Given the description of an element on the screen output the (x, y) to click on. 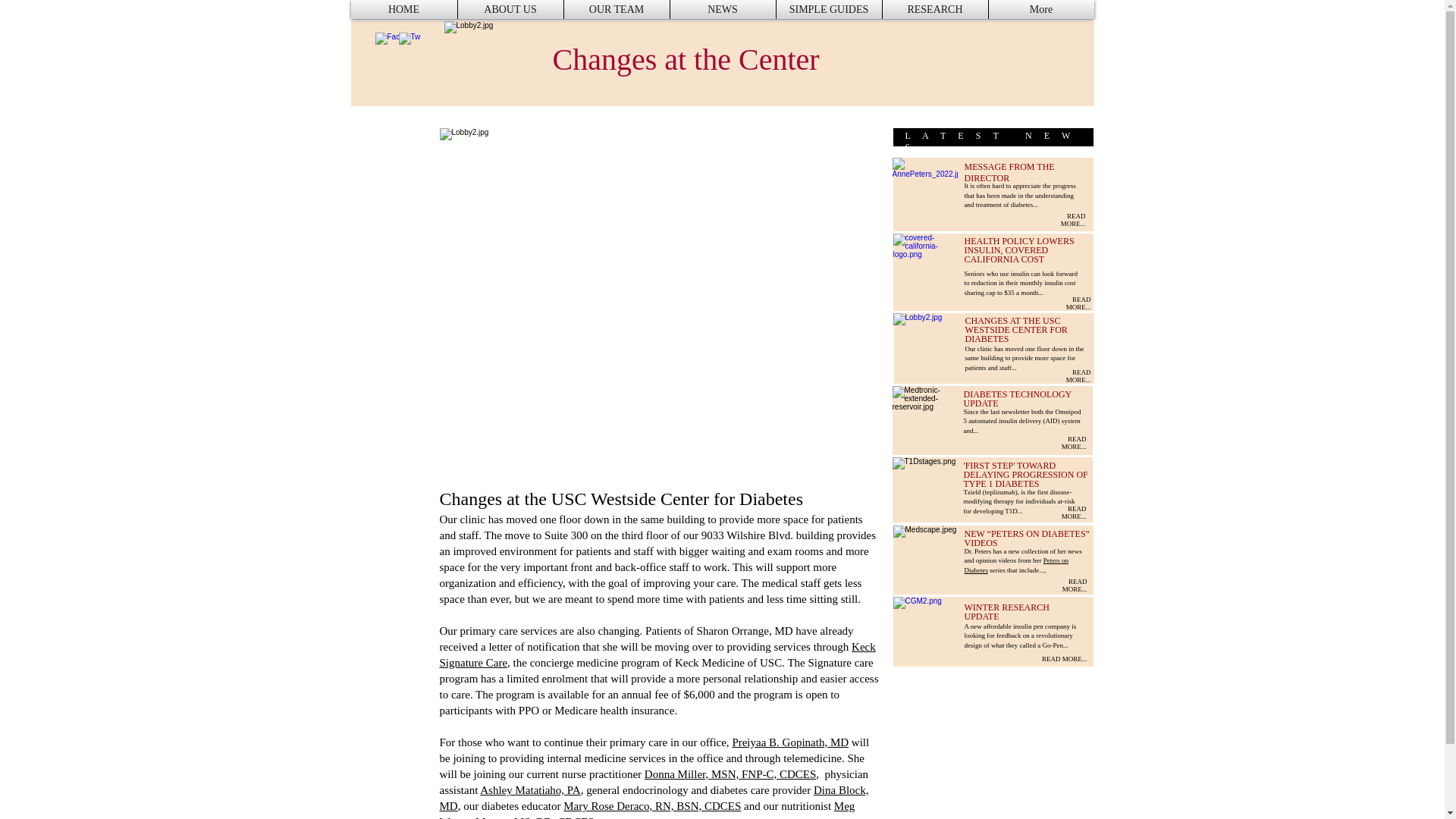
Peters on Diabetes (1015, 565)
Mary Rose Deraco, RN, BSN, CDCES (652, 806)
HOME (403, 9)
Preiyaa B. Gopinath, MD (790, 742)
Donna Miller, MSN, FNP-C, CDCES (730, 774)
Keck Signature Care (657, 654)
ABOUT US (510, 9)
NEWS (721, 9)
Dina Block, MD (654, 797)
Ashley Matatiaho, PA (529, 789)
Meg Werner Moreta, MS, RD, CDCES (647, 809)
